Given the description of an element on the screen output the (x, y) to click on. 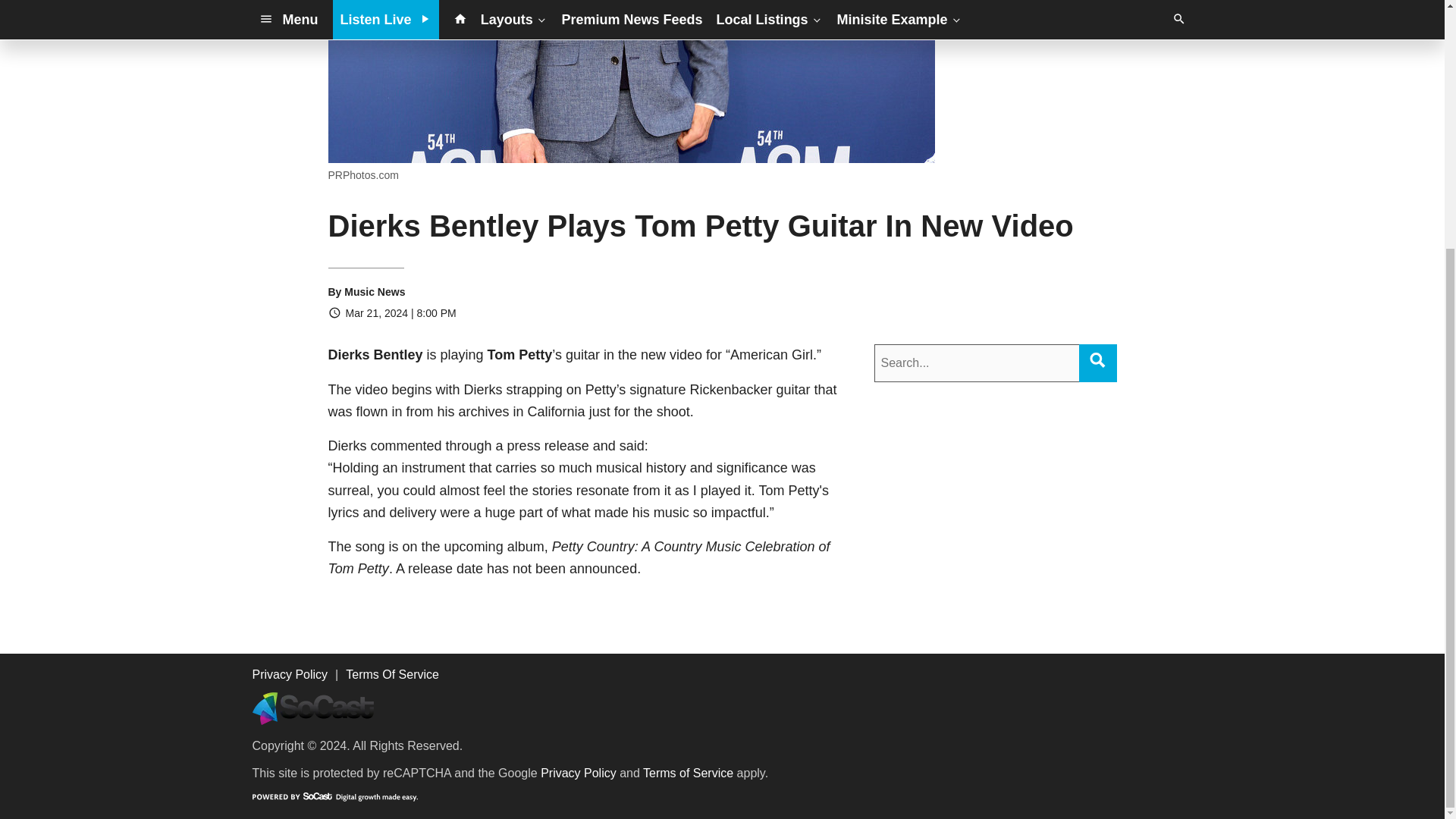
Search (1097, 359)
Powered By SoCast (333, 796)
